Given the description of an element on the screen output the (x, y) to click on. 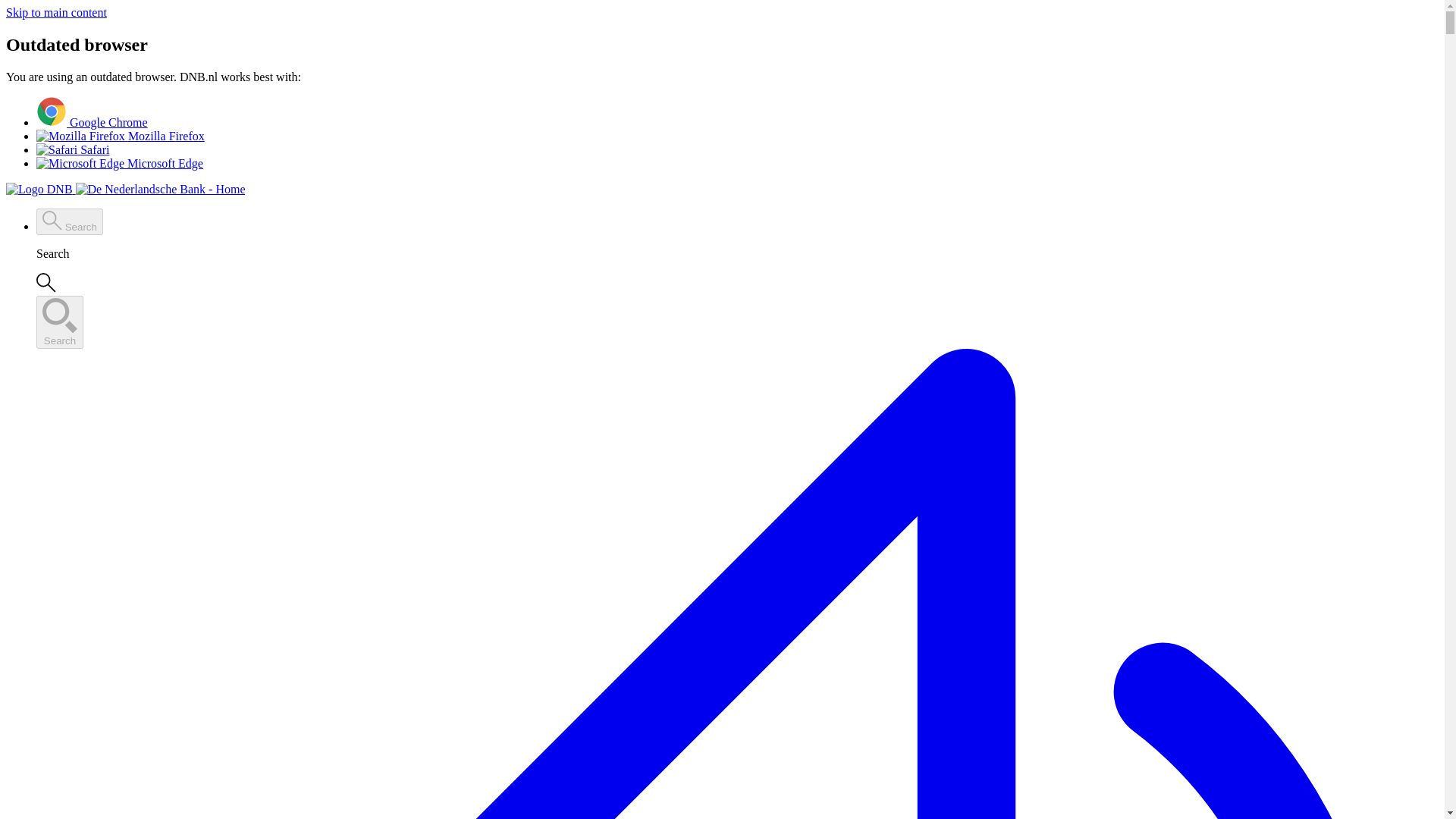
Google Chrome (92, 122)
Microsoft Edge (119, 163)
Safari (72, 149)
Mozilla Firefox (120, 135)
Search (69, 221)
Logo DNB (38, 189)
Skip to main content (55, 11)
De Nederlandsche Bank - Home (160, 189)
